Given the description of an element on the screen output the (x, y) to click on. 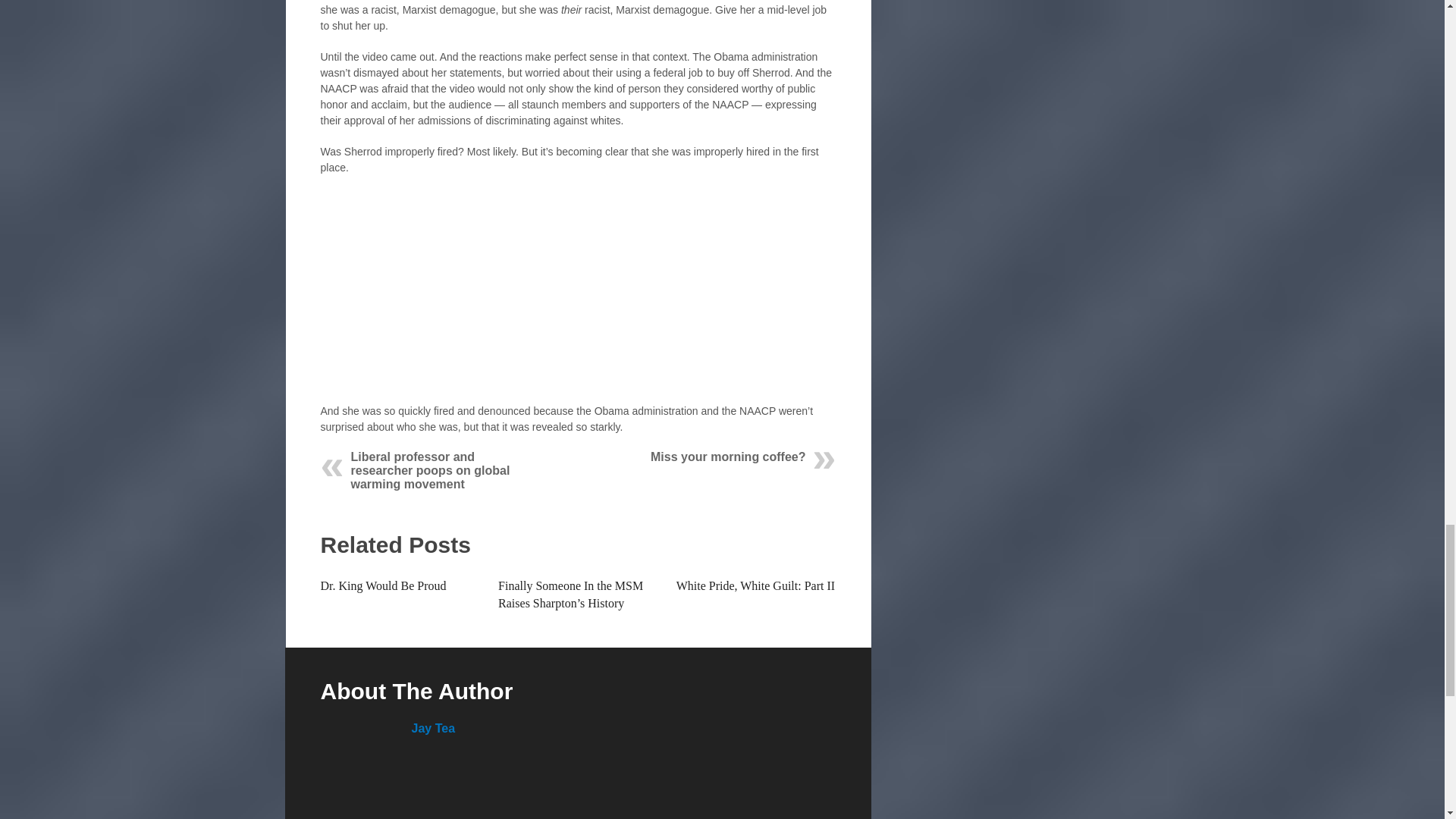
White Pride, White Guilt: Part II (755, 585)
White Pride, White Guilt: Part II (755, 585)
Dr. King Would Be Proud (382, 585)
Jay Tea (432, 727)
Miss your morning coffee? (727, 456)
Dr. King Would Be Proud (382, 585)
Advertisement (577, 296)
